Given the description of an element on the screen output the (x, y) to click on. 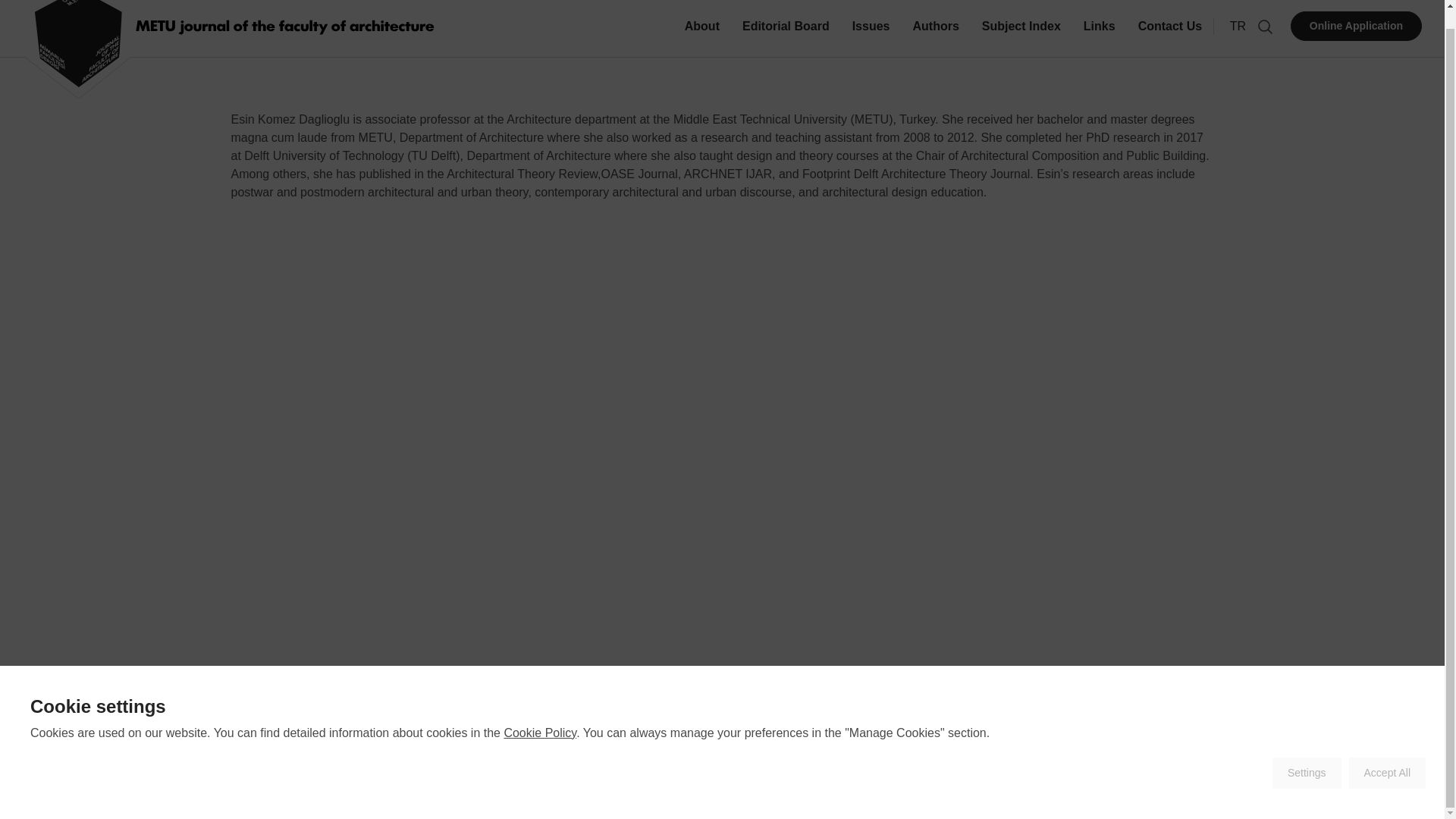
Subject Index (684, 787)
Online Application (1356, 25)
Guide for Preparation of Visual Materials (953, 787)
JFA Author Guide (787, 787)
Editorial Board (785, 37)
Accept All (1387, 754)
Issues (871, 37)
JFA Author Guidelines (787, 787)
Authors (616, 787)
Cookie Policy (539, 714)
TR (1237, 25)
Authors (935, 37)
Issues (569, 787)
Contact Us (1169, 37)
Links (1098, 37)
